Given the description of an element on the screen output the (x, y) to click on. 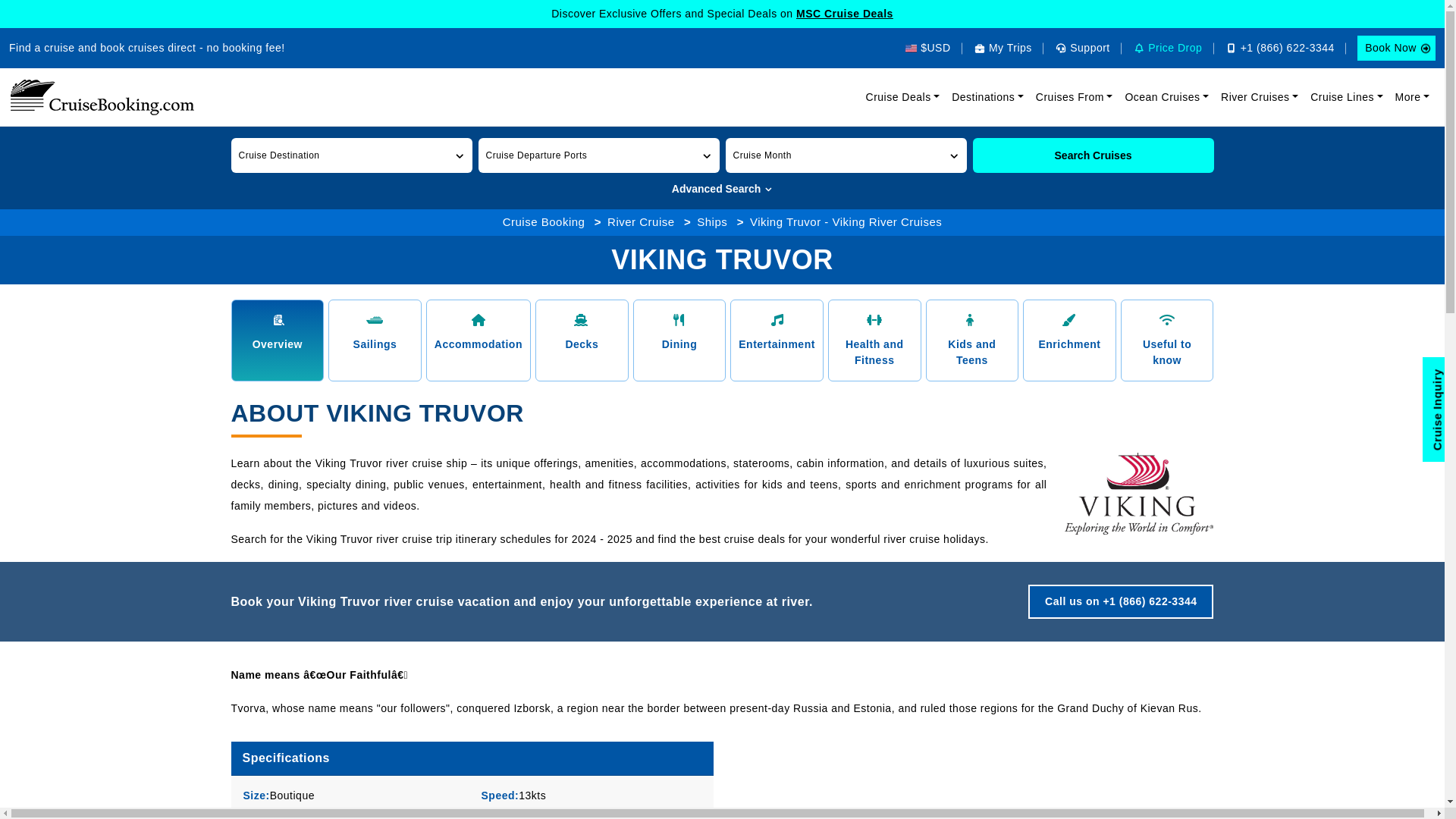
Price Drop (1167, 47)
River Cruise (641, 221)
Cruise Deals (903, 97)
Book Now (1395, 48)
Cruise Booking (543, 221)
Ocean Cruises (1166, 97)
Book a cruise on Cruise Booking (101, 96)
Book a Cruise (1395, 48)
MSC Cruise Deals (844, 13)
MSC Cruise Deals (844, 13)
Cruises From (1074, 97)
Cruise Destinations (986, 97)
Cruise Lines (1346, 97)
River Cruises (1259, 97)
Search Cruises (1092, 155)
